Given the description of an element on the screen output the (x, y) to click on. 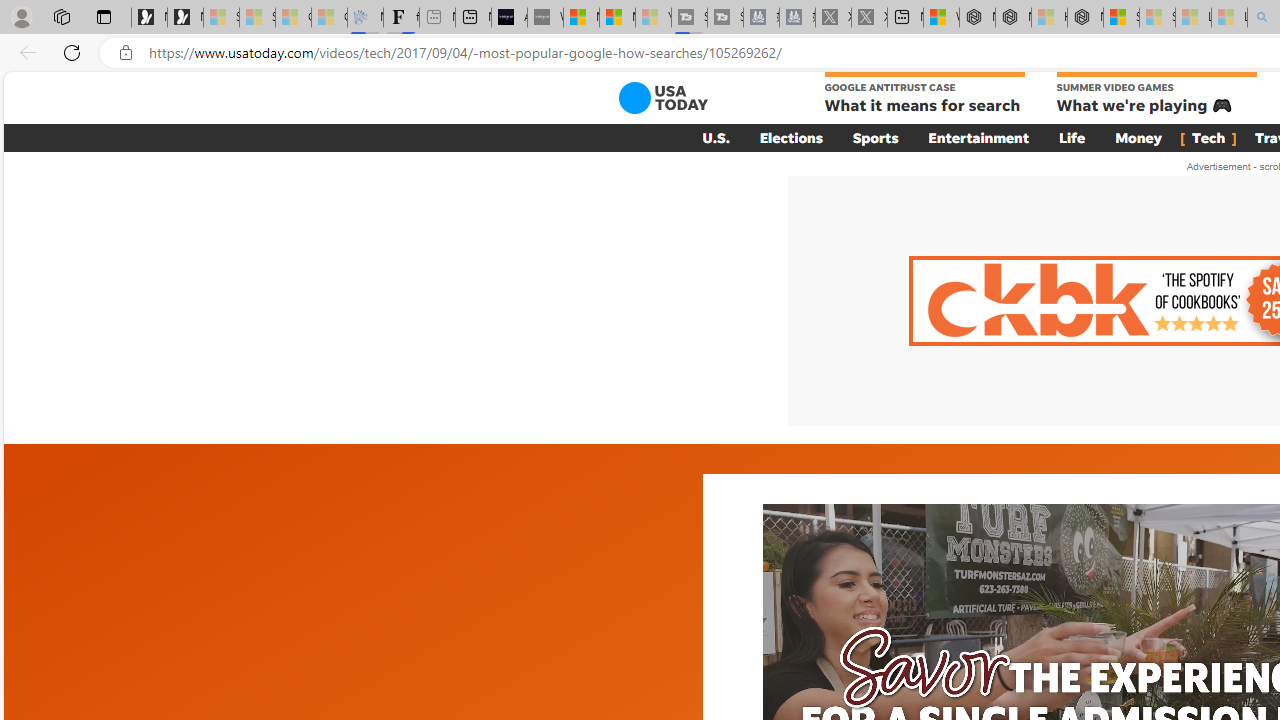
Nordace - Nordace Siena Is Not An Ordinary Backpack (1085, 17)
Newsletter Sign Up (185, 17)
GOOGLE ANTITRUST CASE What it means for search (924, 94)
[ Tech ] (1208, 137)
